Given the description of an element on the screen output the (x, y) to click on. 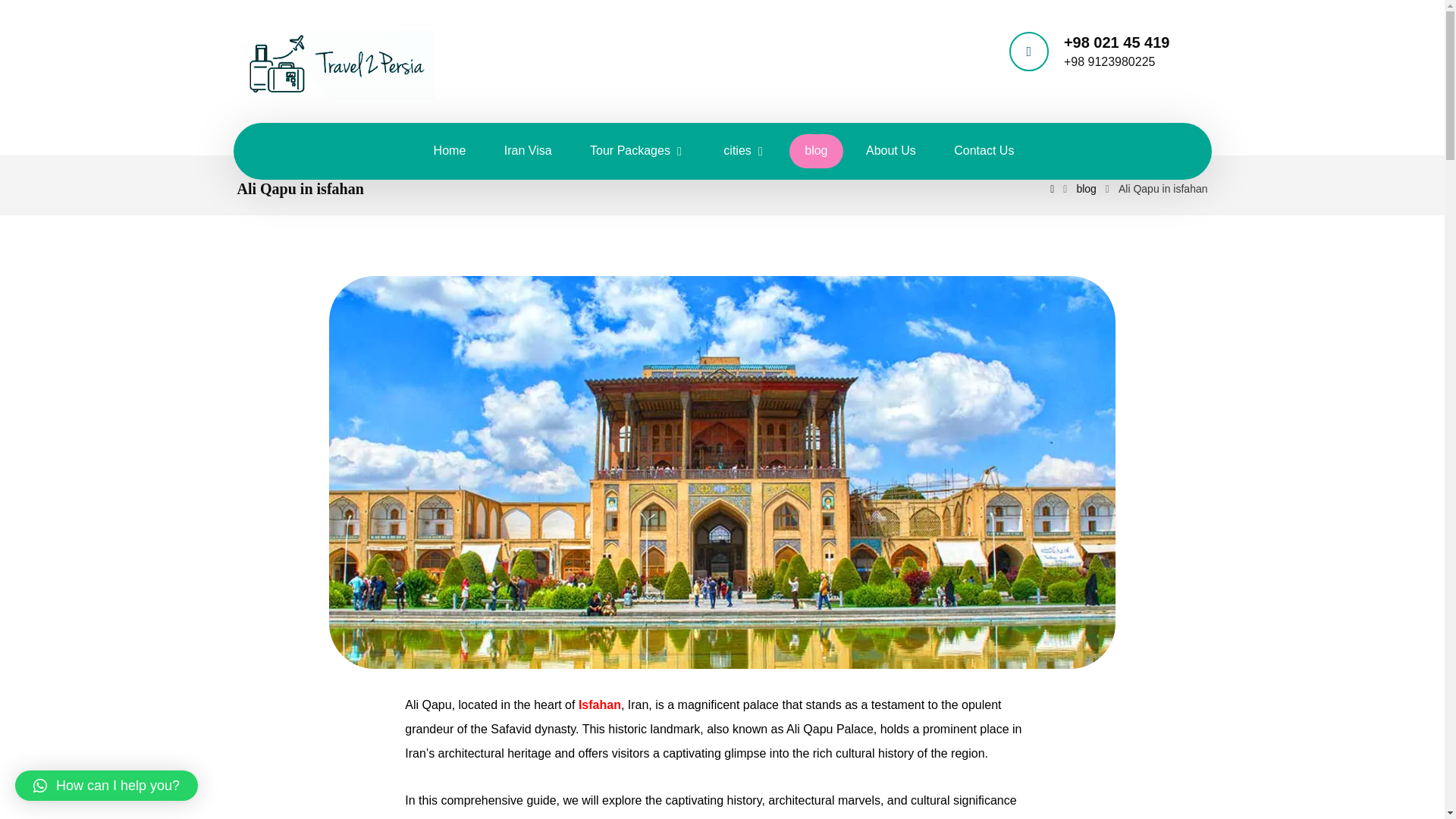
Iran Visa (528, 151)
About Us (890, 151)
Home (450, 151)
Tour Packages (637, 151)
blog (816, 151)
Contact Us (984, 151)
cities (743, 151)
Tourism Agency (334, 64)
